Given the description of an element on the screen output the (x, y) to click on. 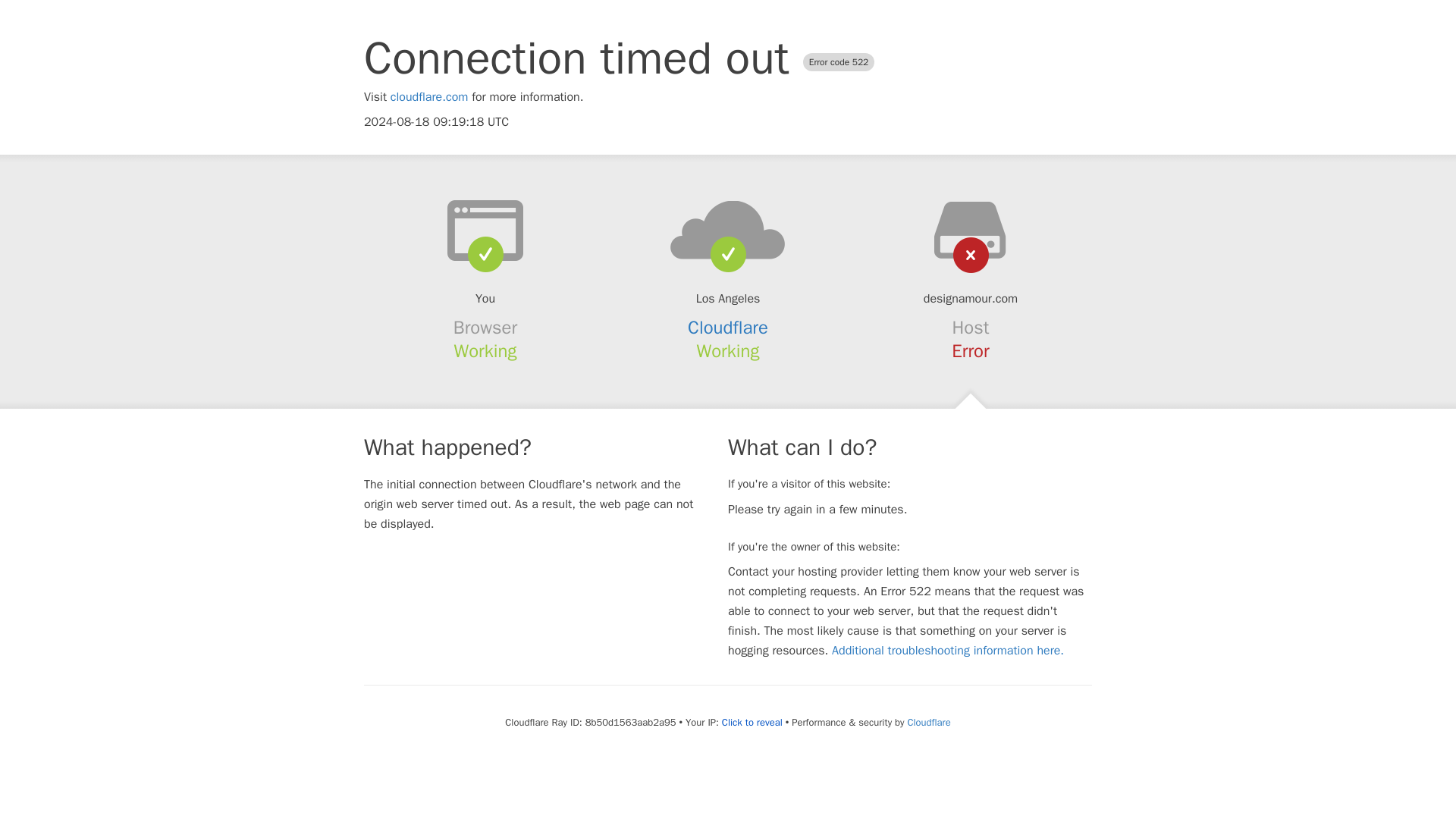
cloudflare.com (429, 96)
Cloudflare (727, 327)
Click to reveal (752, 722)
Additional troubleshooting information here. (947, 650)
Cloudflare (928, 721)
